Given the description of an element on the screen output the (x, y) to click on. 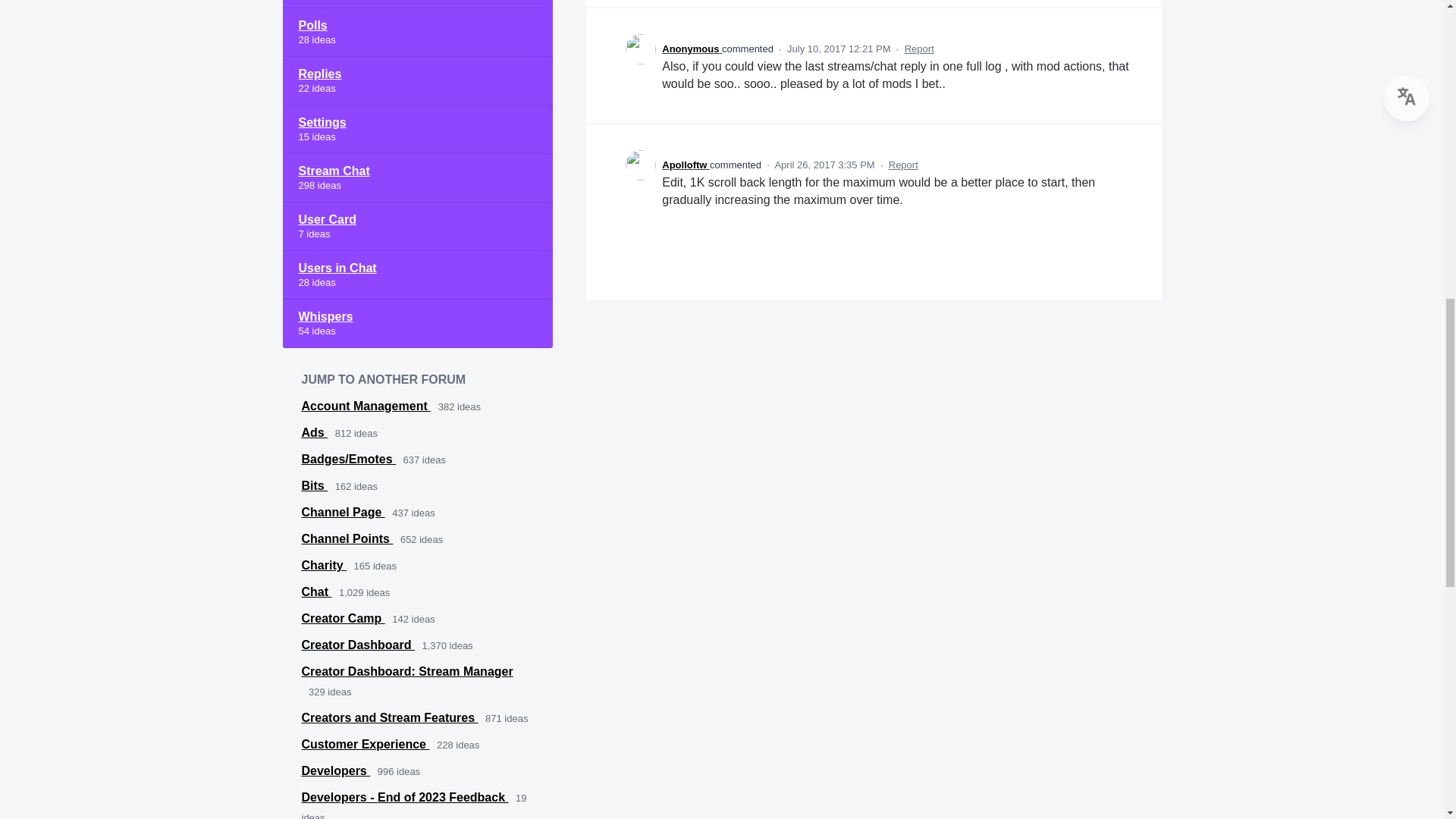
View all ideas in category Other (417, 4)
View all ideas in category Polls (417, 32)
